Given the description of an element on the screen output the (x, y) to click on. 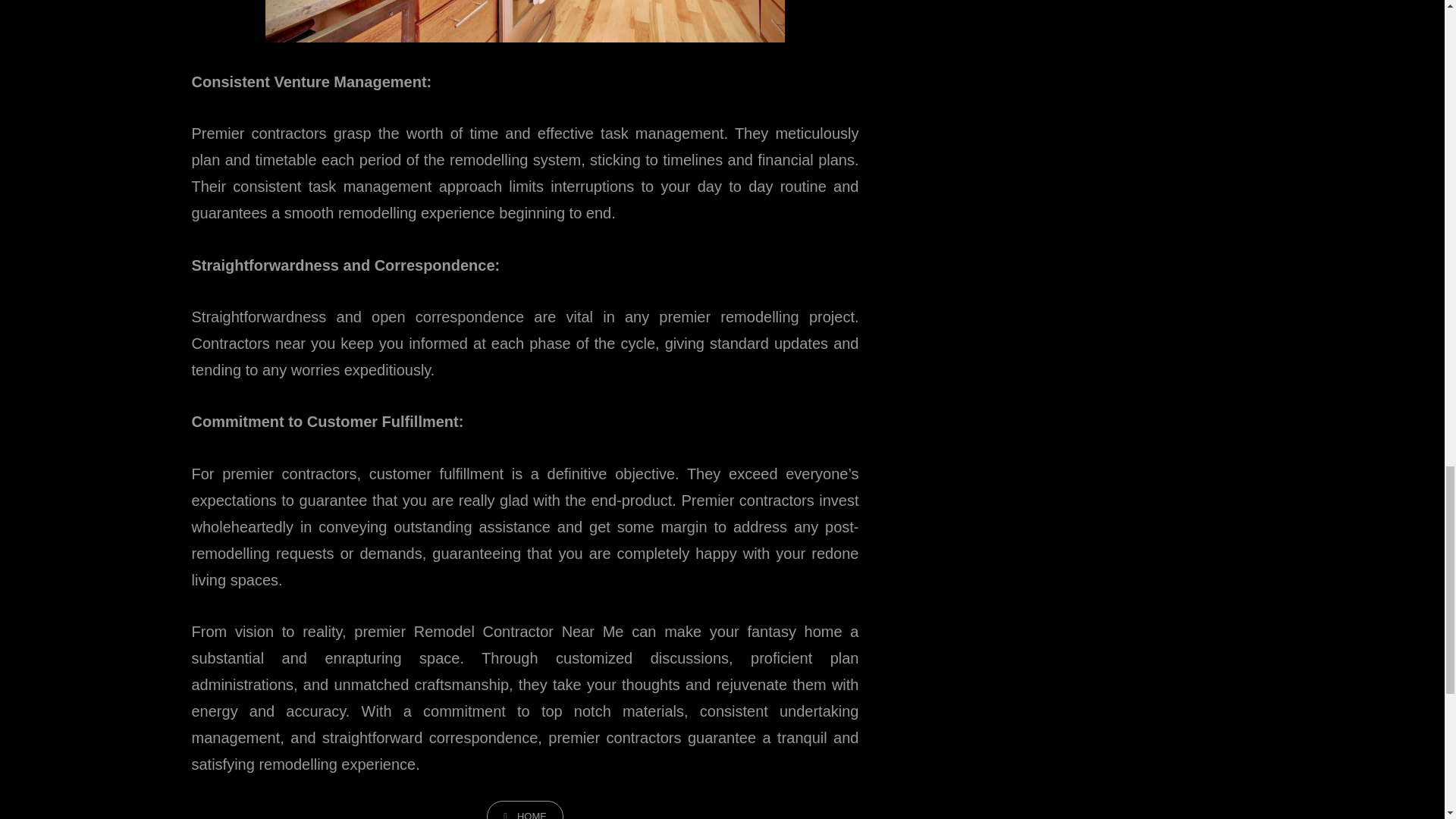
HOME (524, 809)
